Given the description of an element on the screen output the (x, y) to click on. 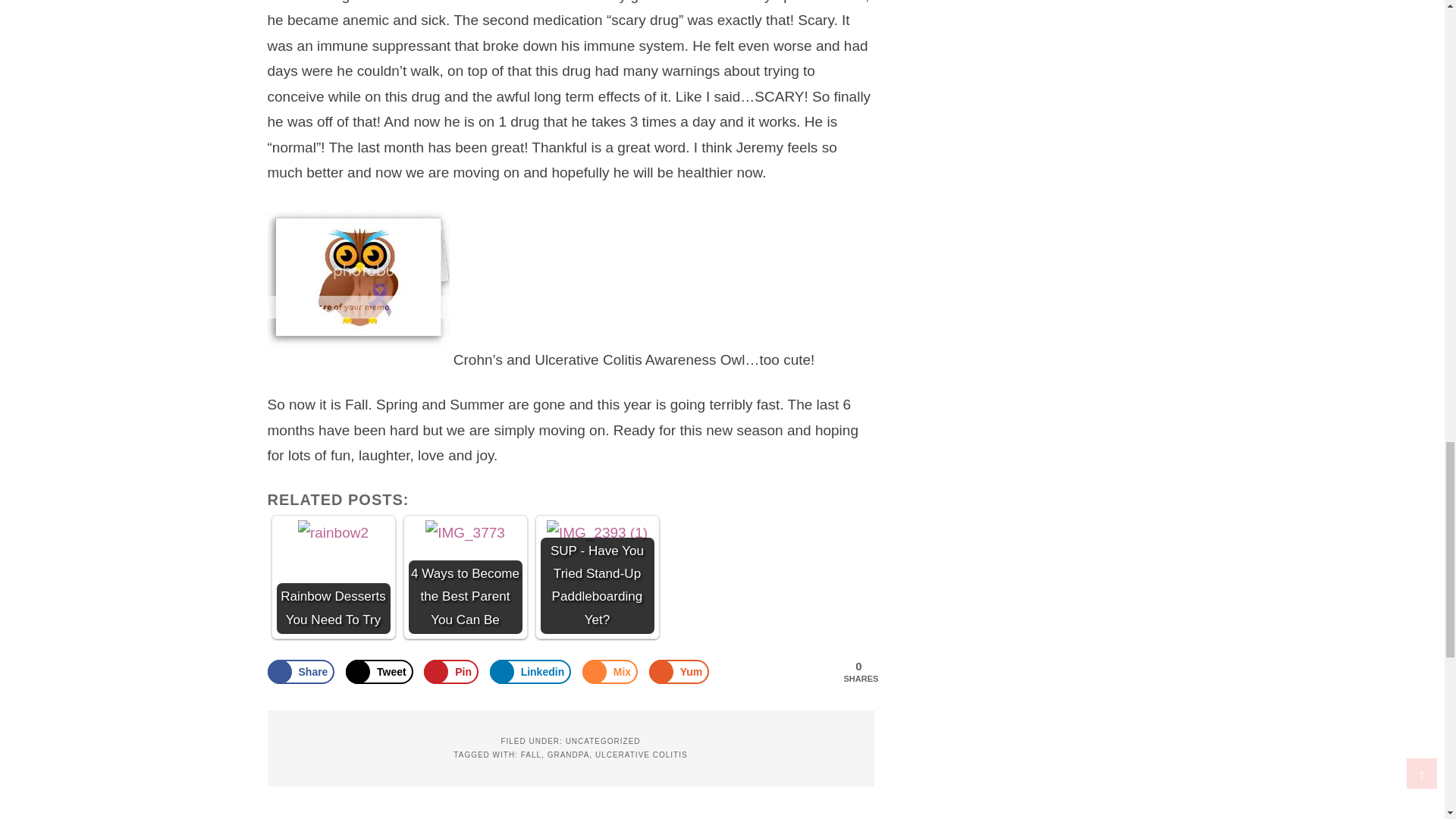
SUP - Have You Tried Stand-Up Paddleboarding Yet? (597, 532)
4 Ways to Become the Best Parent You Can Be (465, 532)
Save to Pinterest (451, 671)
Rainbow Desserts You Need To Try (333, 532)
Share on Facebook (300, 671)
Share on X (379, 671)
Share on LinkedIn (530, 671)
